Given the description of an element on the screen output the (x, y) to click on. 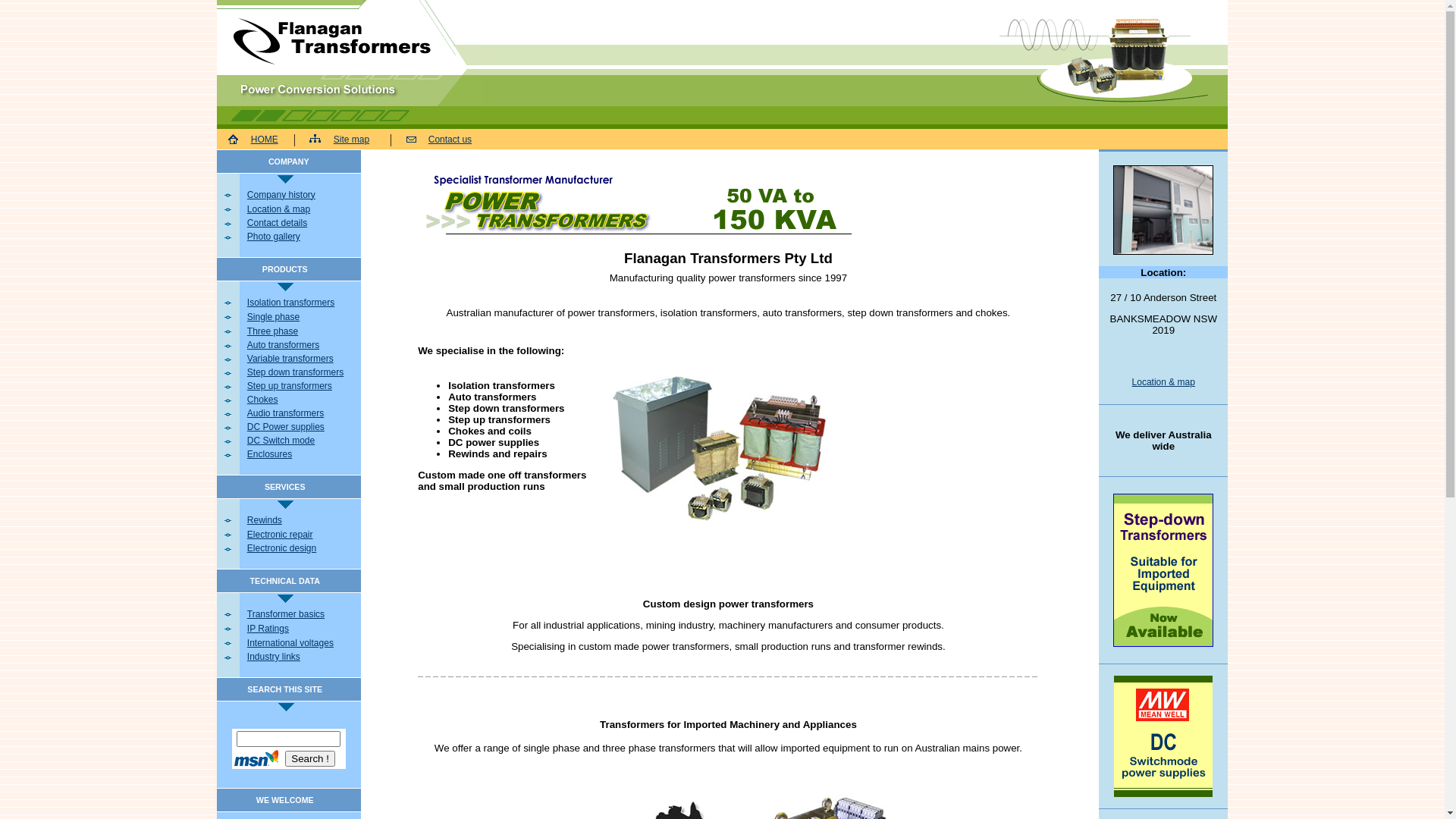
Photo gallery Element type: text (302, 236)
Chokes Element type: text (302, 399)
HOME Element type: text (264, 138)
Electronic design Element type: text (302, 547)
Enclosures Element type: text (302, 453)
Auto transformers Element type: text (302, 344)
DC Power supplies Element type: text (302, 426)
Single phase Element type: text (302, 315)
Search ! Element type: text (310, 758)
Industry links Element type: text (302, 656)
Electronic repair Element type: text (302, 534)
Location & map Element type: text (1163, 381)
Step down transformers Element type: text (302, 372)
Step up transformers Element type: text (302, 385)
Transformer basics Element type: text (302, 613)
Contact details Element type: text (302, 222)
Contact us Element type: text (449, 138)
Audio transformers Element type: text (302, 412)
Isolation transformers Element type: text (302, 302)
International voltages Element type: text (302, 642)
IP Ratings Element type: text (302, 628)
Site map Element type: text (351, 138)
Location & map Element type: text (302, 208)
Rewinds Element type: text (302, 519)
Company history Element type: text (302, 194)
Variable transformers Element type: text (302, 358)
DC Switch mode Element type: text (302, 440)
Three phase Element type: text (302, 331)
